Given the description of an element on the screen output the (x, y) to click on. 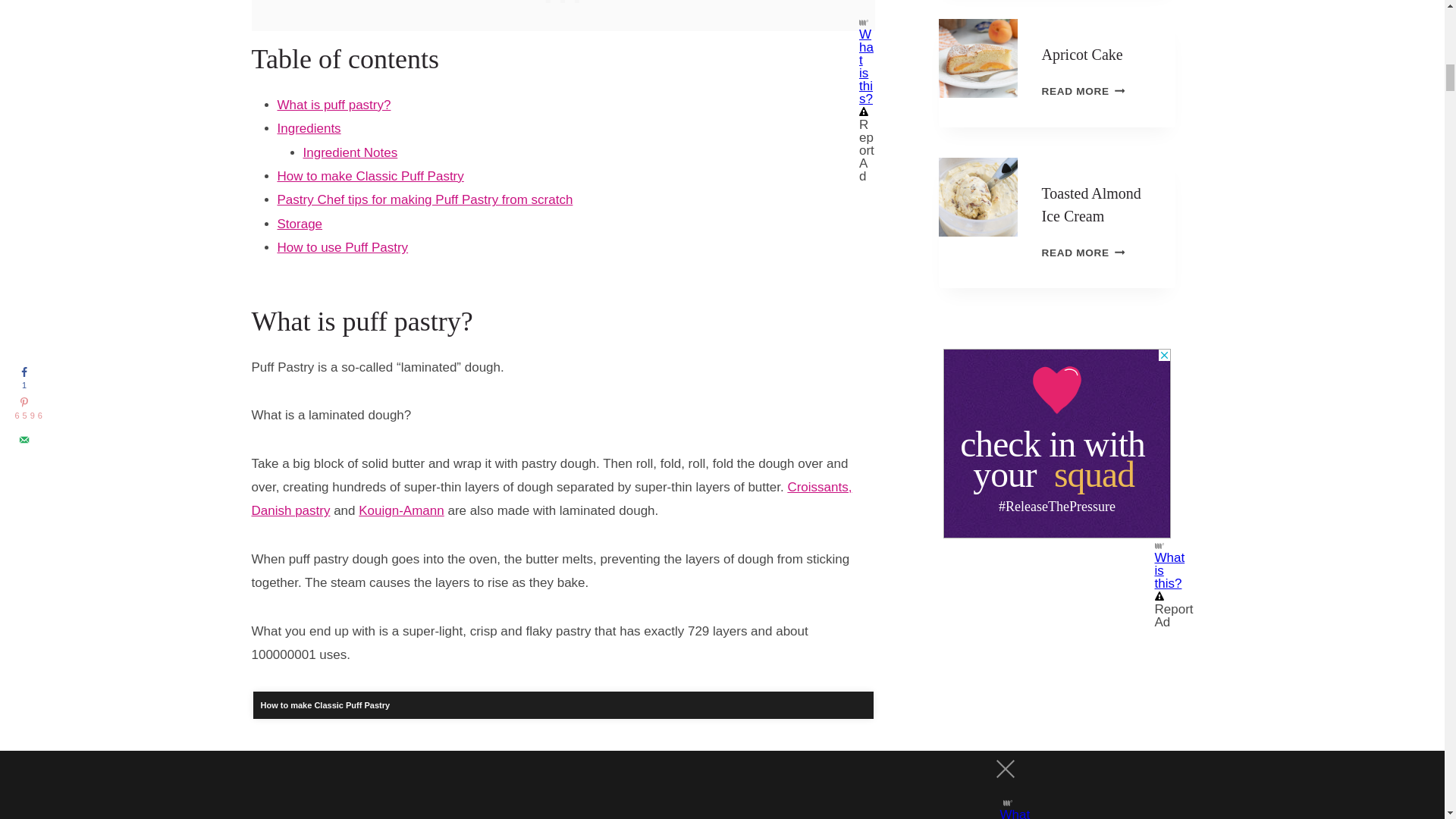
How to use Puff Pastry (343, 247)
Kouign-Amann (401, 510)
Ingredient Notes (349, 152)
Ingredients (309, 128)
3rd party ad content (1056, 443)
Storage (300, 223)
How to make Classic Puff Pastry (371, 175)
Croissants, (819, 486)
Danish pastry (290, 510)
Pastry Chef tips for making Puff Pastry from scratch (425, 199)
What is puff pastry? (334, 104)
